Given the description of an element on the screen output the (x, y) to click on. 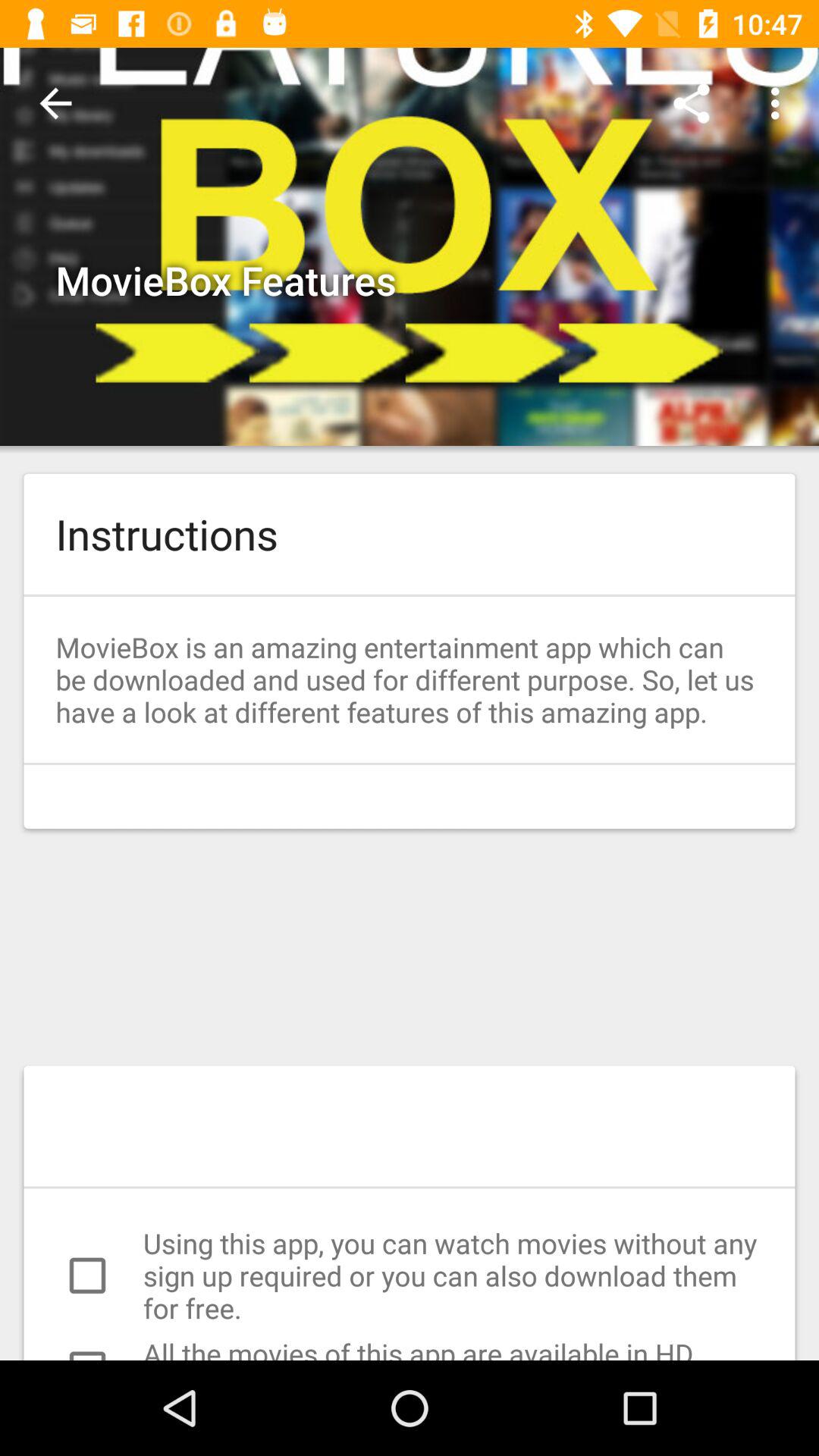
tap the all the movies icon (409, 1347)
